Given the description of an element on the screen output the (x, y) to click on. 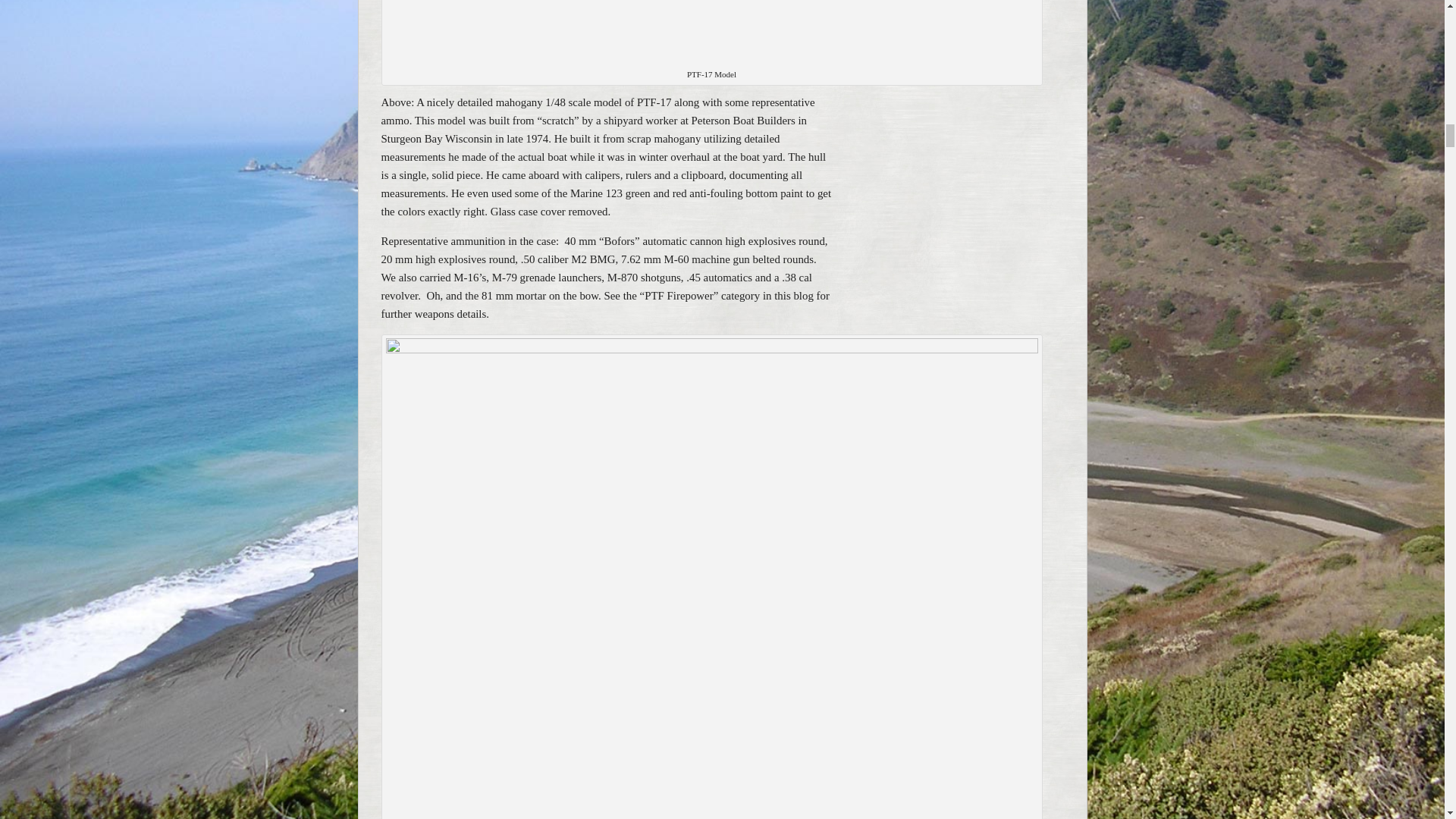
OLYMPUS DIGITAL CAMERA (710, 33)
